Given the description of an element on the screen output the (x, y) to click on. 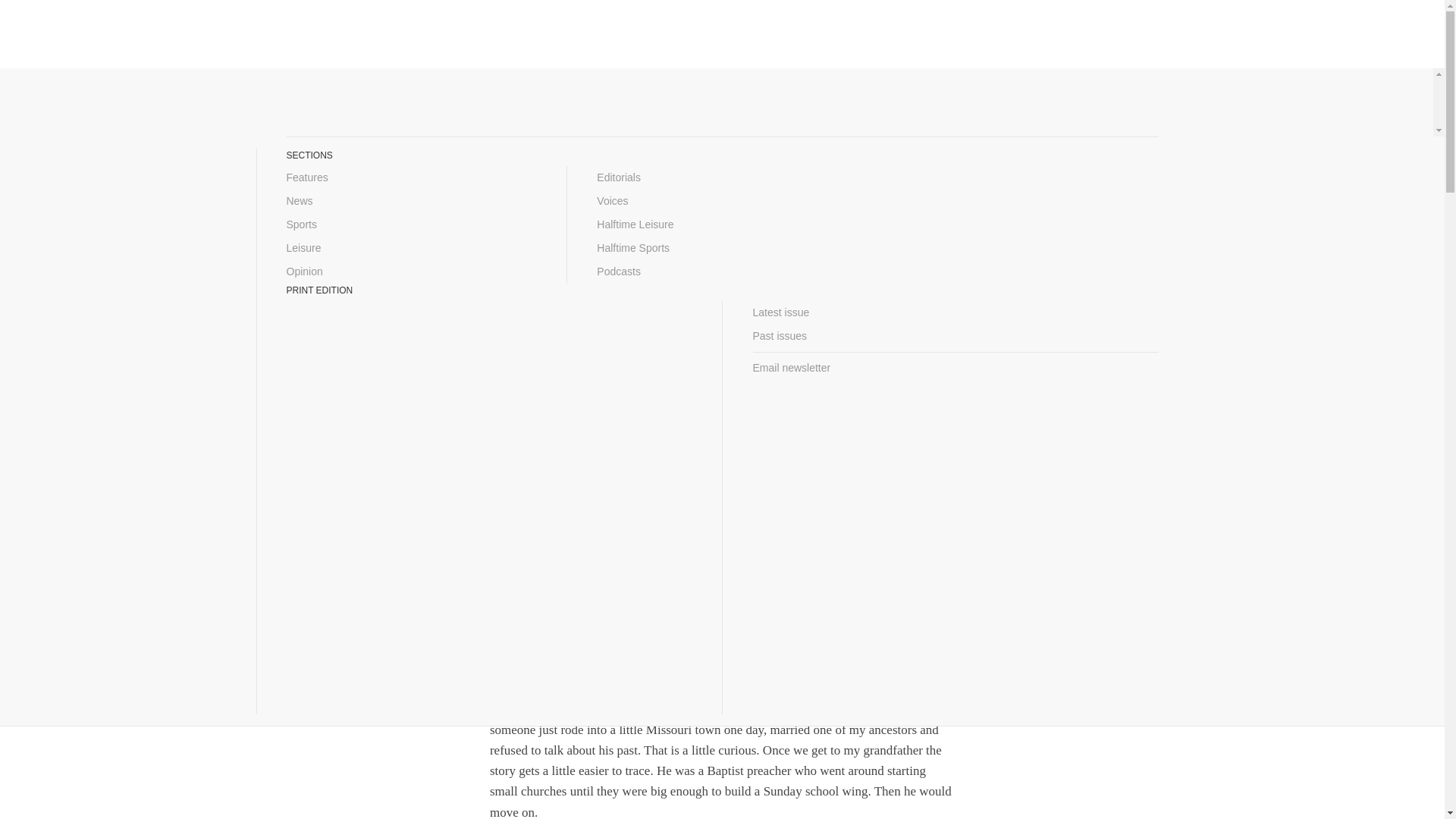
Opinion (411, 271)
Halftime Sports (721, 248)
Voices (721, 200)
Latest issue (954, 312)
Podcasts (721, 271)
Posts by Voice Staff (486, 279)
News (411, 200)
Email newsletter (954, 368)
Leisure (411, 248)
Editorials (721, 177)
